Given the description of an element on the screen output the (x, y) to click on. 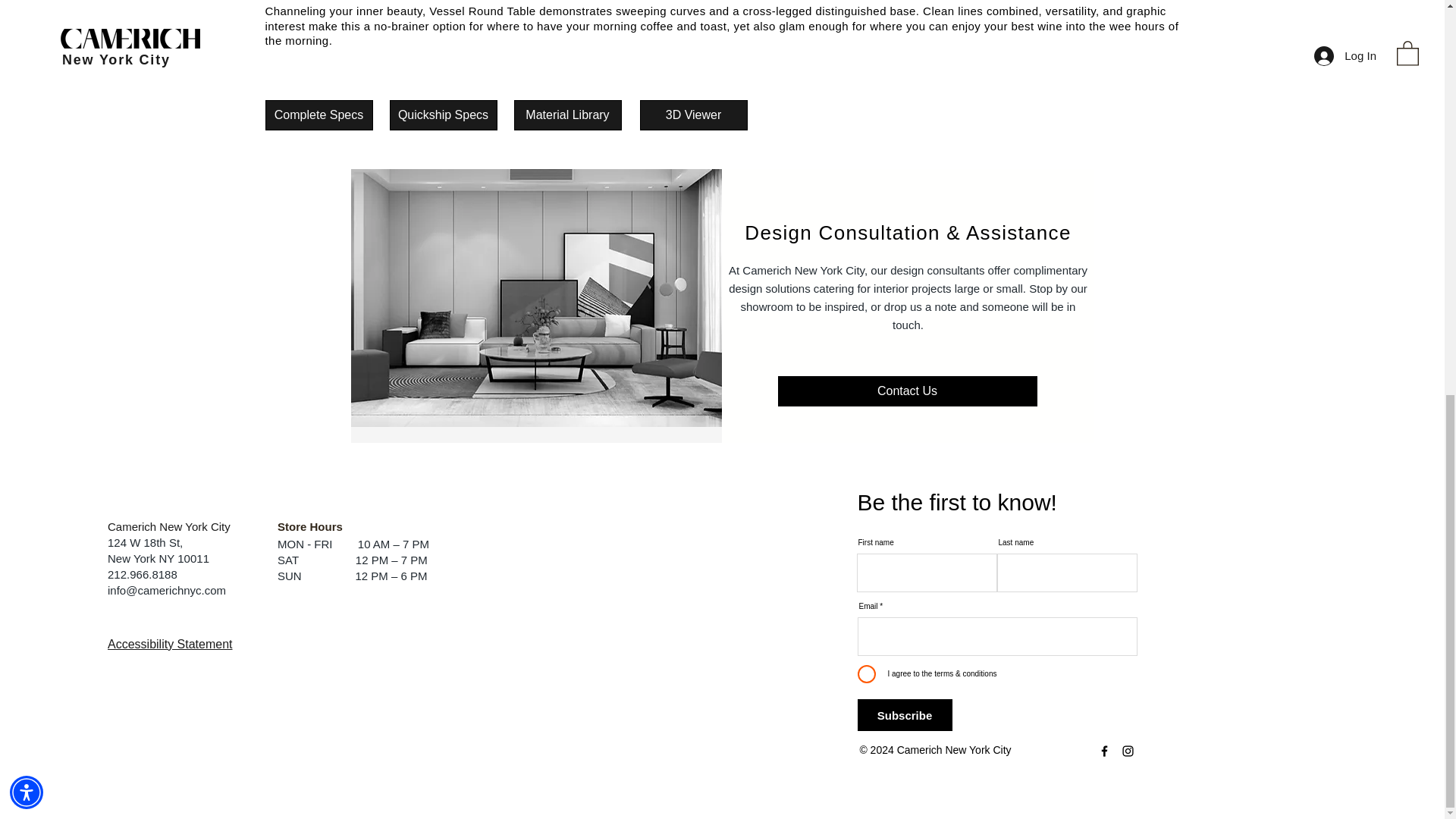
3D Viewer (694, 114)
Material Library (567, 114)
Quickship Specs (443, 114)
Complete Specs (318, 114)
Accessibility Statement (169, 643)
Contact Us (906, 390)
Accessibility Menu (26, 30)
Subscribe (904, 715)
